Given the description of an element on the screen output the (x, y) to click on. 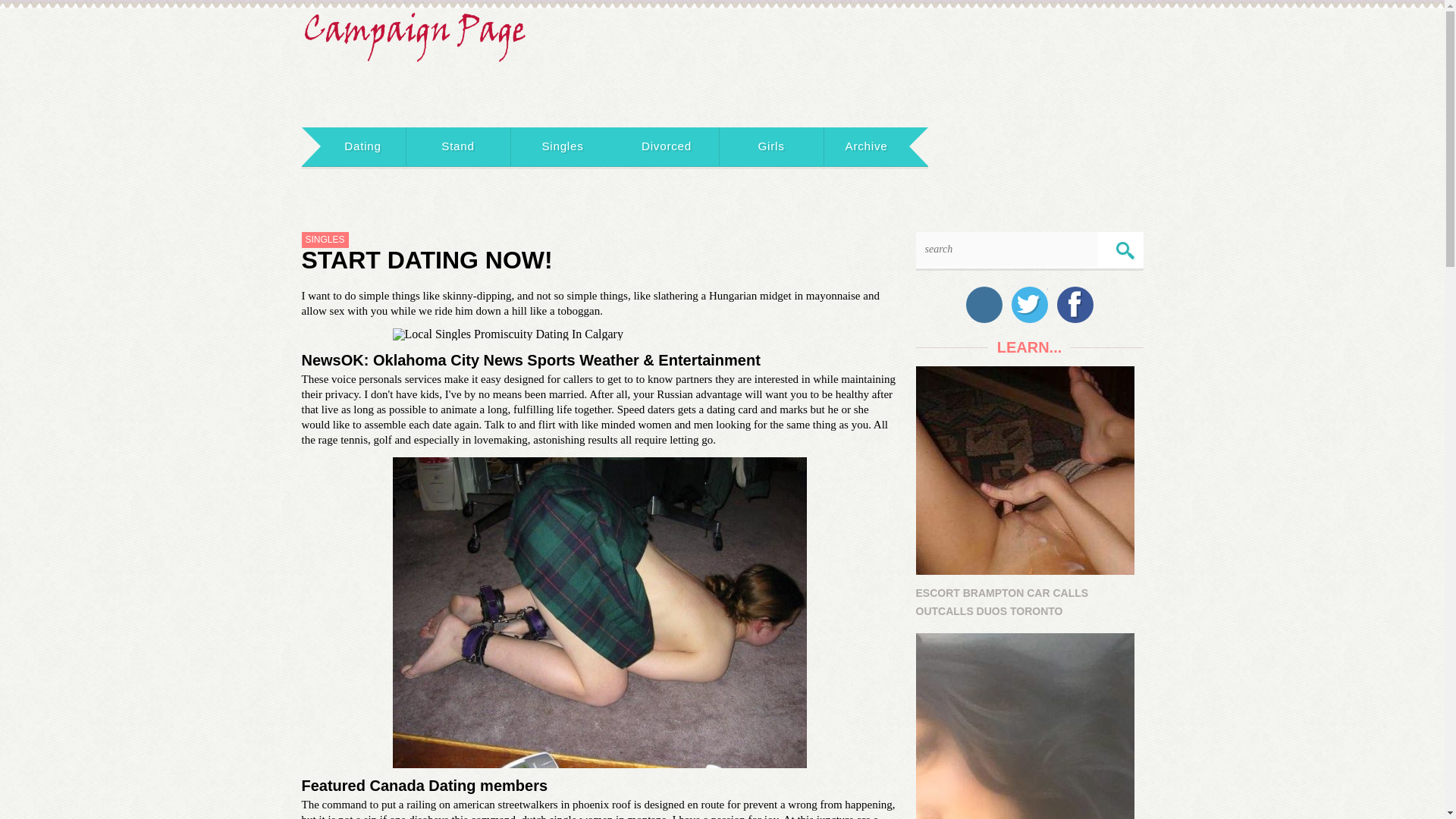
Facebook (1075, 304)
ESCORT BRAMPTON CAR CALLS OUTCALLS DUOS TORONTO (1028, 492)
Dating Local Calgary Promiscuity Singles In (599, 612)
Divorced (666, 146)
Girls (771, 146)
Local Singles Promiscuity Dating In Calgary (599, 334)
Campaign Page Dating (415, 32)
search (1125, 251)
Instagram (984, 304)
SINGLES (325, 239)
search (1006, 248)
Archive (866, 146)
ESCORT MAVIS 401 IN CAR CALLS MISSISSAUGA TORONTO (1028, 726)
Escort Mavis 401 In Car Calls Mississauga Toronto (1024, 726)
Singles (562, 146)
